Given the description of an element on the screen output the (x, y) to click on. 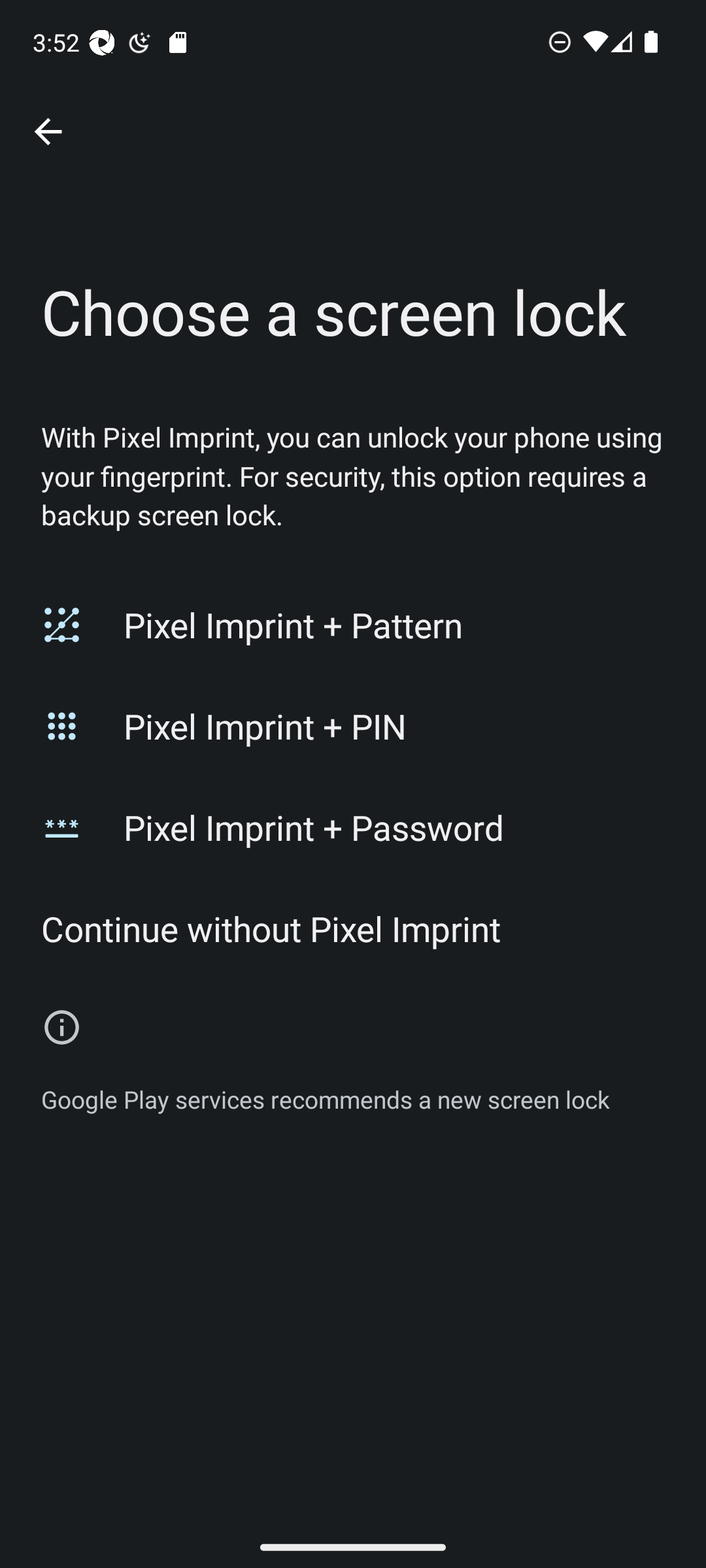
Navigate up (48, 131)
Pixel Imprint + Pattern (353, 624)
Pixel Imprint + PIN (353, 725)
Pixel Imprint + Password (353, 827)
Continue without Pixel Imprint (353, 929)
